Given the description of an element on the screen output the (x, y) to click on. 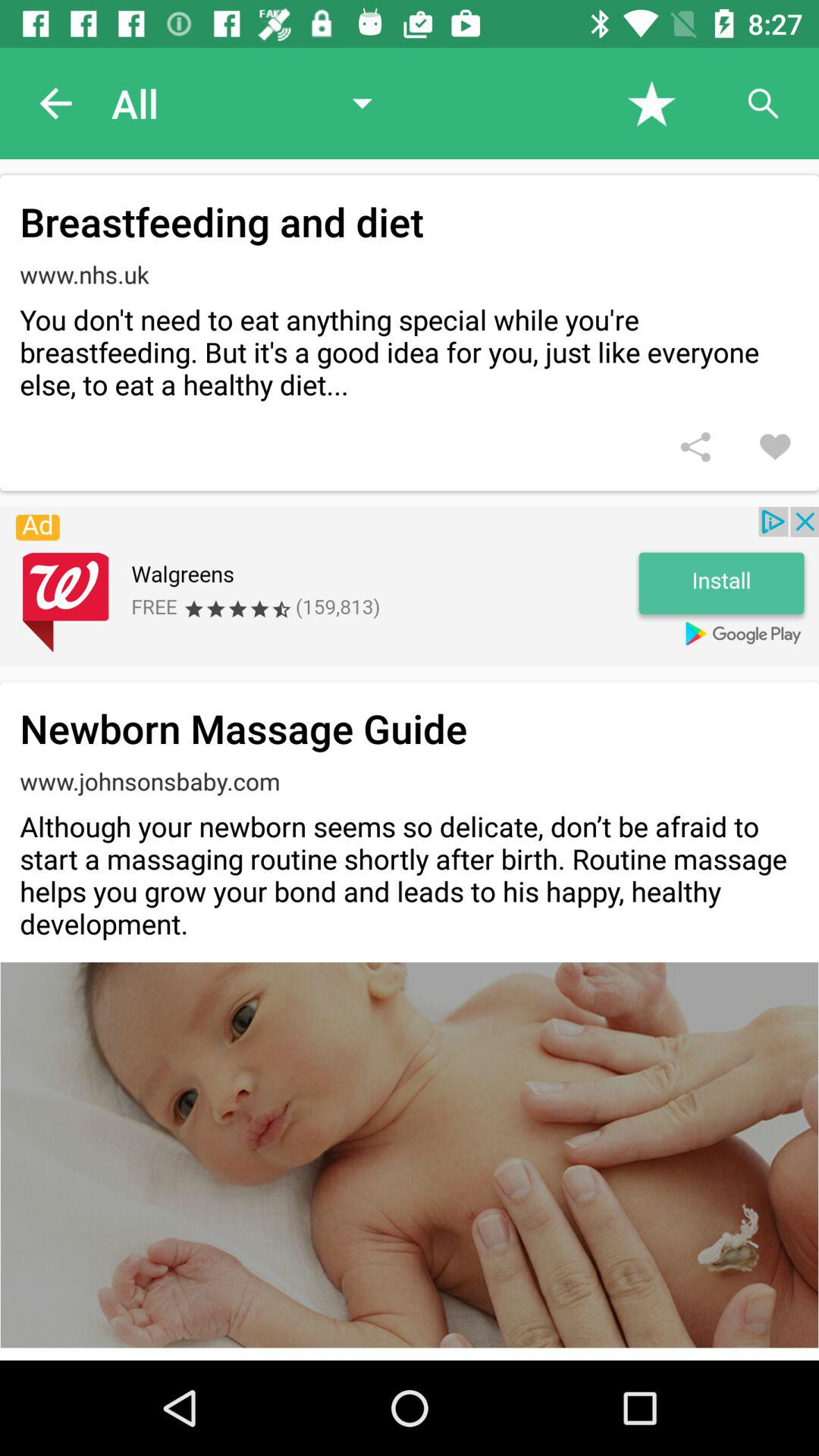
web advertisement (409, 586)
